Given the description of an element on the screen output the (x, y) to click on. 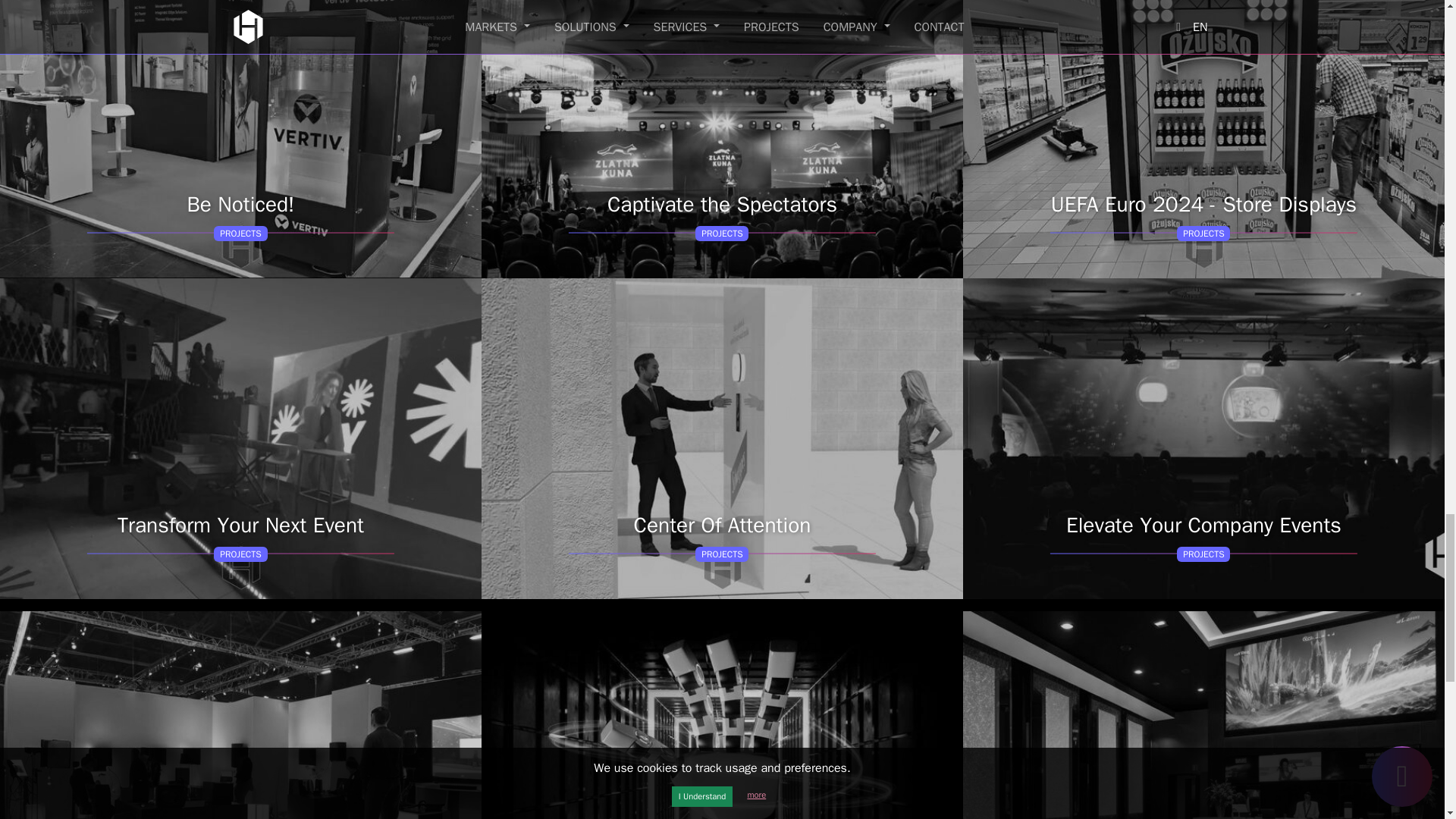
Social Networks, Publicity and CGI (721, 714)
Be Noticed! (240, 138)
Multi-sensory environment (240, 714)
Captivate the Spectators (721, 138)
